Given the description of an element on the screen output the (x, y) to click on. 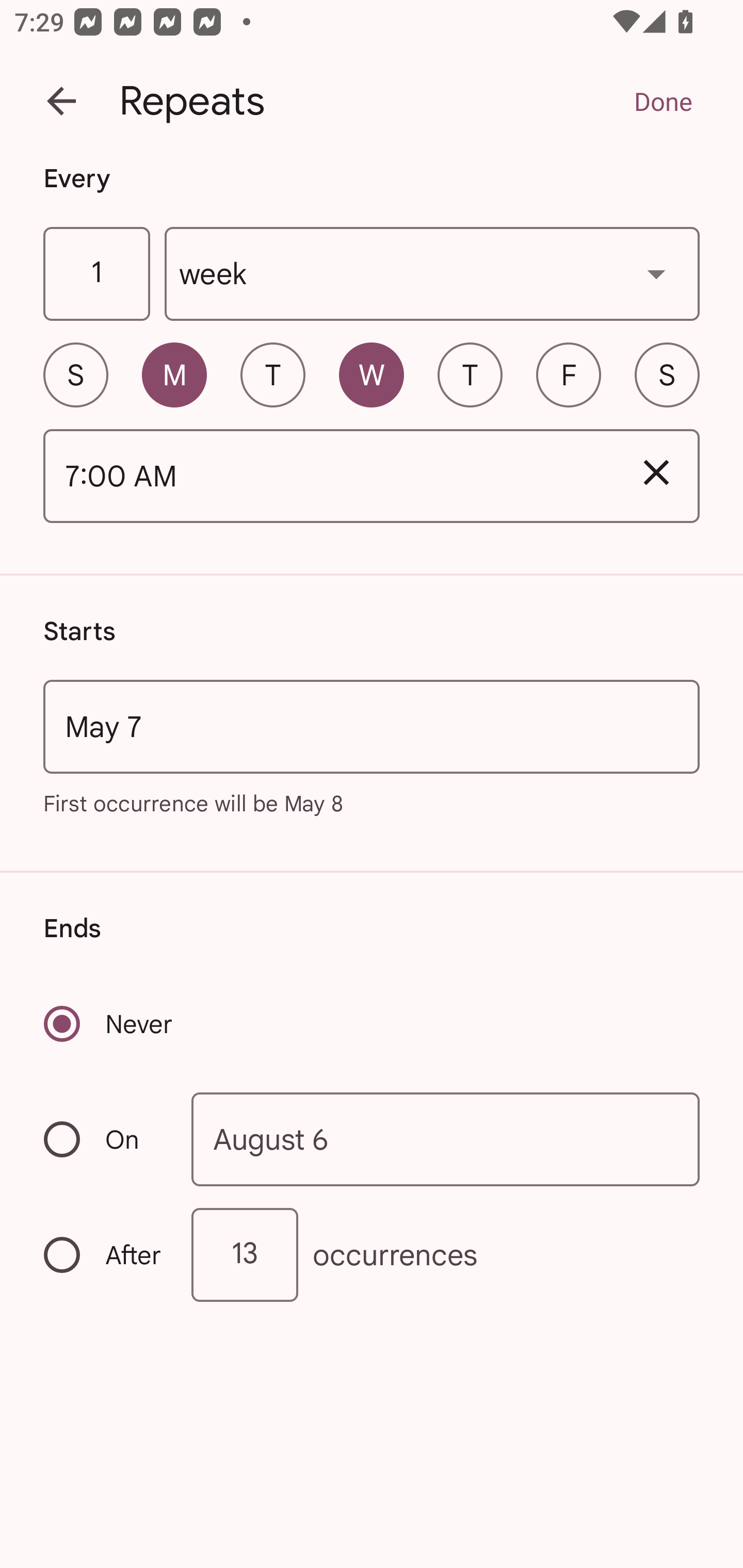
Back (61, 101)
Done (663, 101)
1 (96, 274)
week (431, 274)
Show dropdown menu (655, 273)
S Sunday (75, 374)
M Monday, selected (173, 374)
T Tuesday (272, 374)
W Wednesday, selected (371, 374)
T Thursday (469, 374)
F Friday (568, 374)
S Saturday (666, 374)
7:00 AM (327, 476)
Remove 7:00 AM (655, 472)
May 7 (371, 726)
Never Recurrence never ends (109, 1023)
August 6 (445, 1139)
On Recurrence ends on a specific date (104, 1138)
13 (244, 1254)
